Given the description of an element on the screen output the (x, y) to click on. 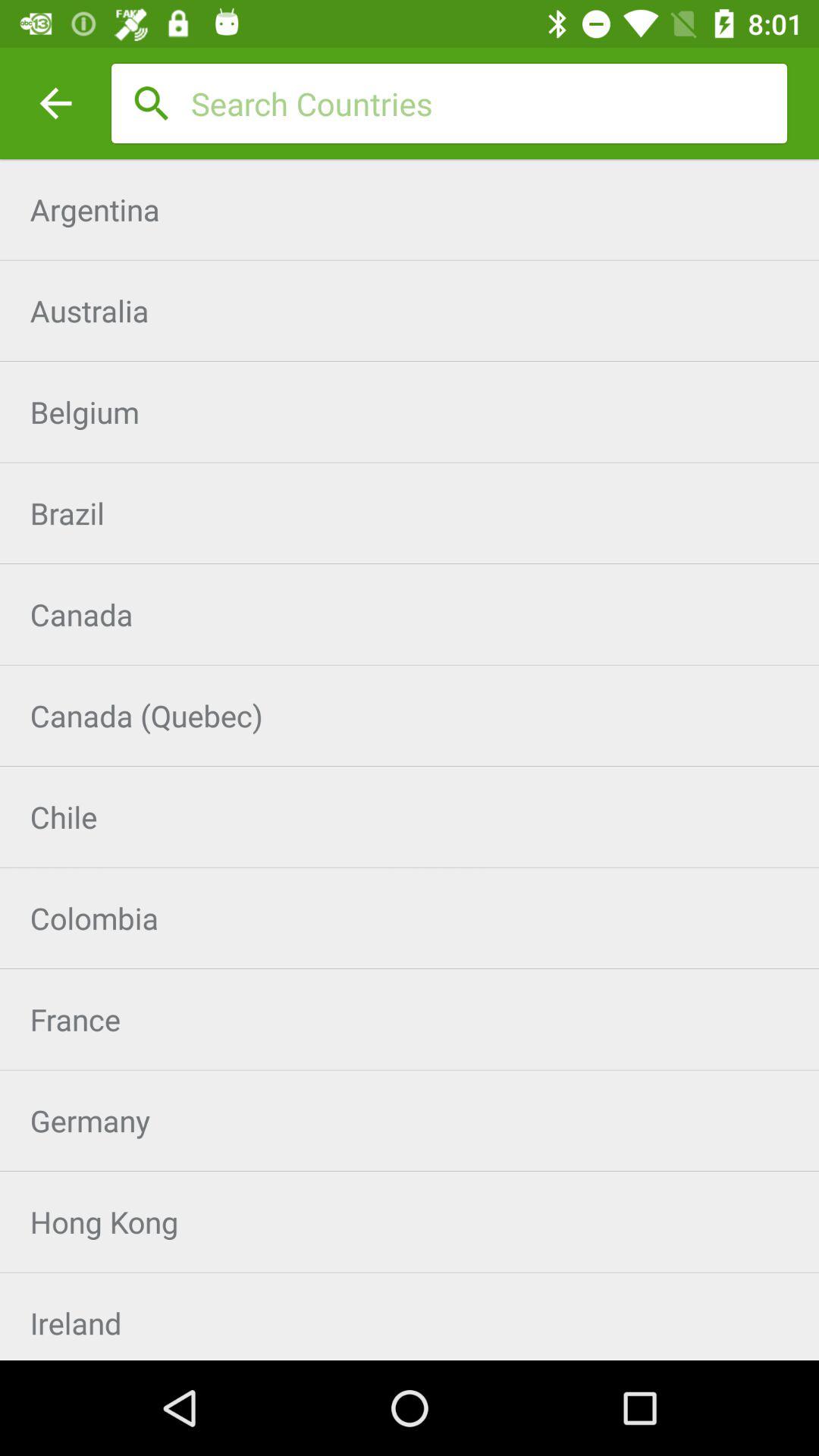
scroll to australia item (409, 310)
